Given the description of an element on the screen output the (x, y) to click on. 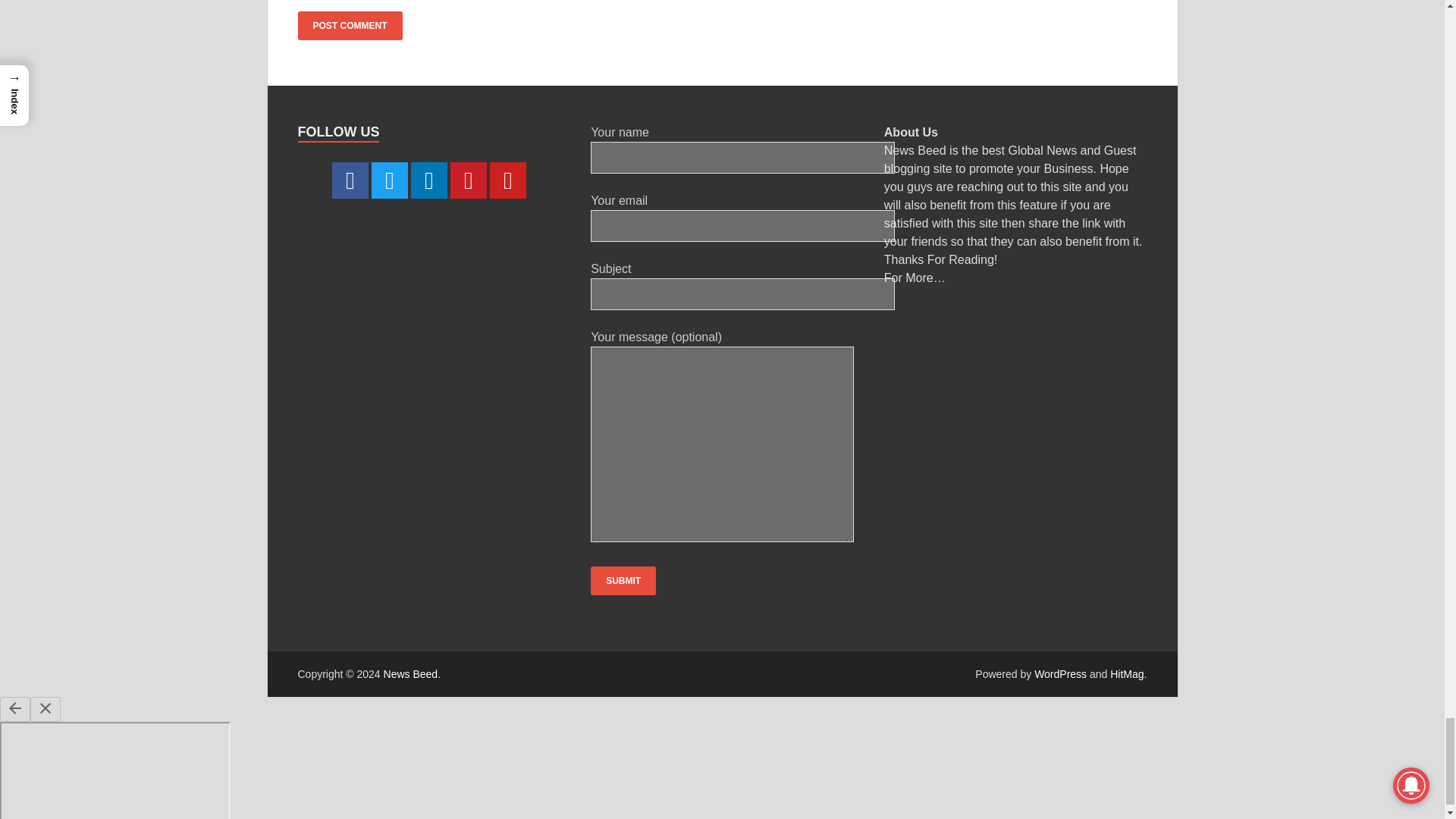
Post Comment (349, 25)
Submit (623, 580)
